Given the description of an element on the screen output the (x, y) to click on. 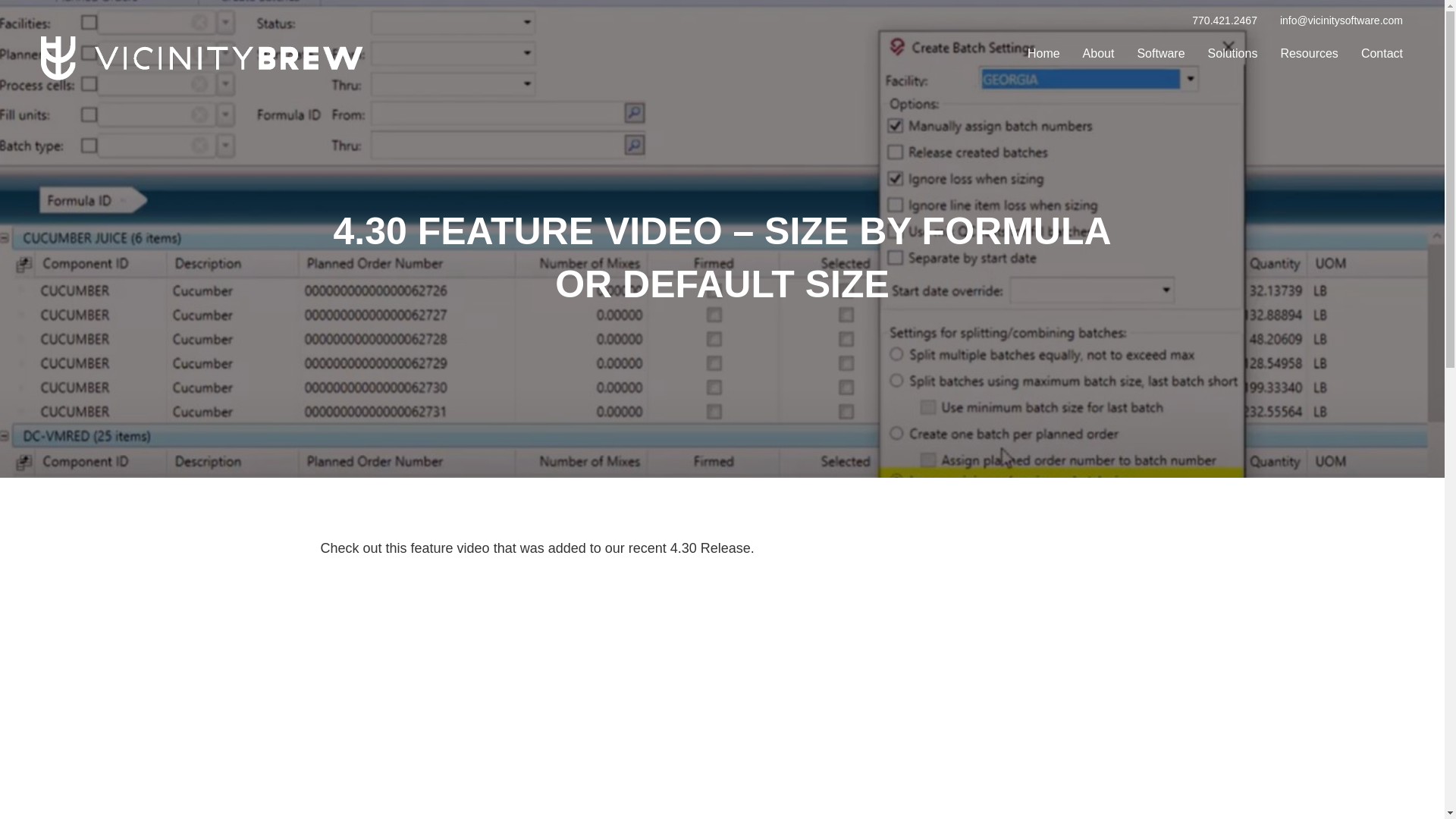
Solutions (1232, 52)
Contact (1382, 52)
Resources (1308, 52)
770.421.2467 (1225, 20)
Software (1160, 52)
About (1098, 52)
Home (1043, 52)
VICINITYBREW-LOGO-WTE (200, 56)
